Given the description of an element on the screen output the (x, y) to click on. 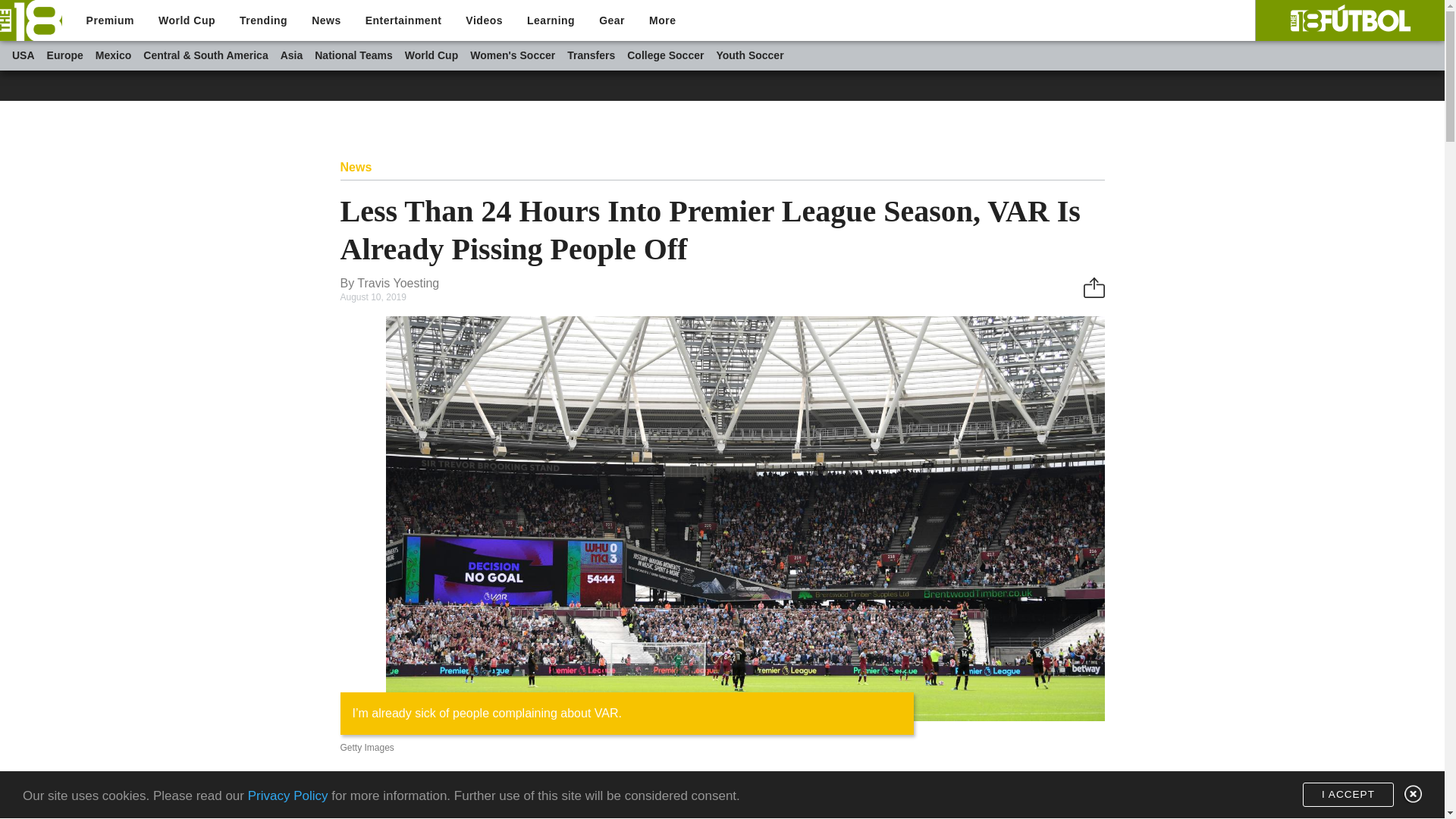
Youth Soccer (749, 54)
Mexico (113, 54)
Videos (483, 20)
Transfers (590, 54)
National Teams (352, 54)
World Cup (431, 54)
Entertainment (403, 20)
News (326, 20)
Gear (611, 20)
Women's Soccer (512, 54)
Europe (64, 54)
I ACCEPT (1348, 794)
College Soccer (665, 54)
Learning (550, 20)
